Given the description of an element on the screen output the (x, y) to click on. 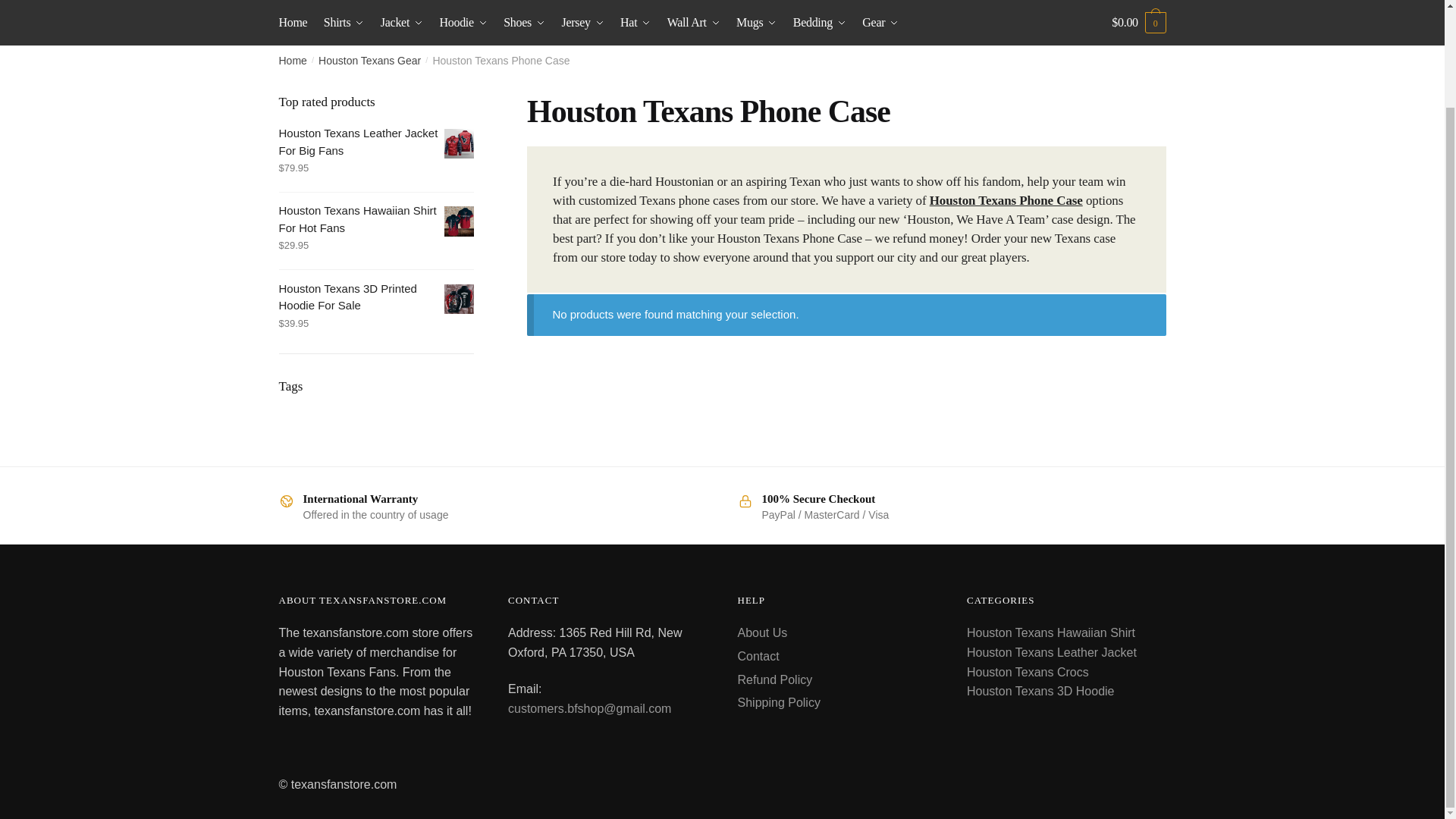
Shoes (524, 20)
Shirts (344, 20)
Jacket (401, 20)
Jersey (582, 20)
View your shopping cart (1139, 20)
Hoodie (463, 20)
